Given the description of an element on the screen output the (x, y) to click on. 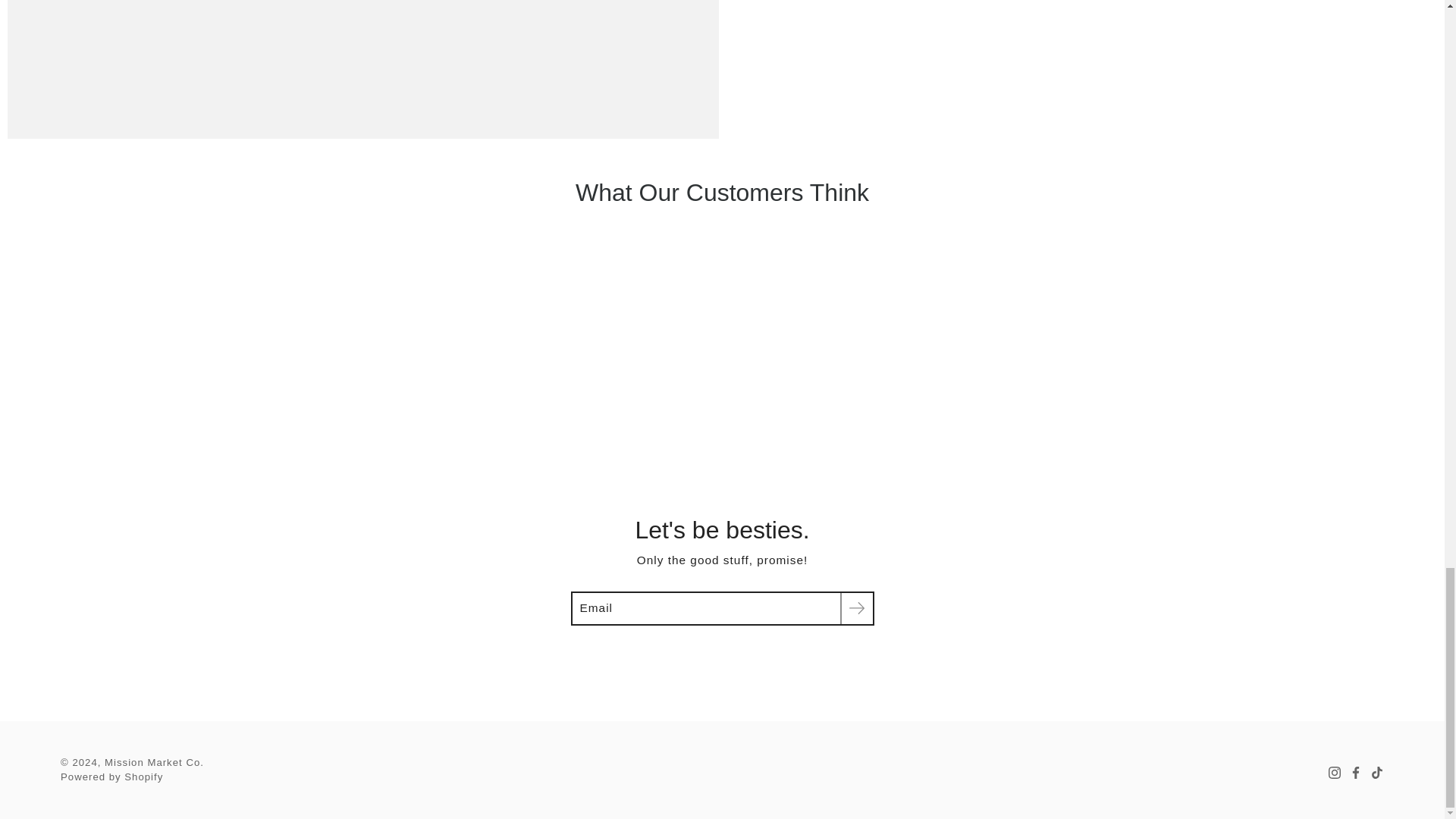
Facebook (1355, 772)
Powered by Shopify (112, 776)
Tiktok (1377, 772)
Mission Market Co. (153, 762)
Instagram (1333, 772)
